Given the description of an element on the screen output the (x, y) to click on. 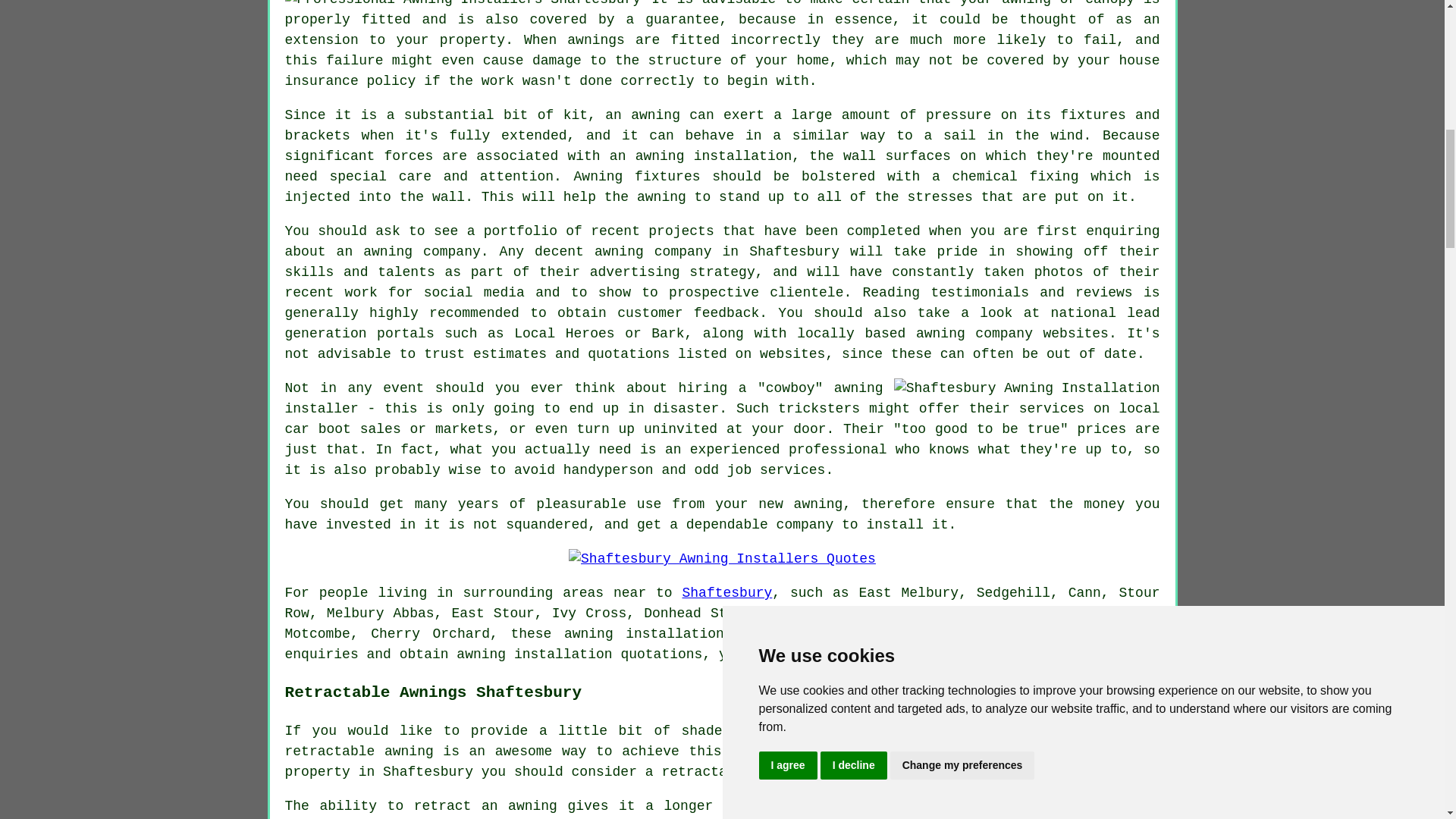
awning (588, 633)
Shaftesbury Awning Installation (1026, 388)
Shaftesbury Awning Installers Quotes (722, 558)
awning (481, 654)
Professional Awning Installers Shaftesbury (463, 4)
